Given the description of an element on the screen output the (x, y) to click on. 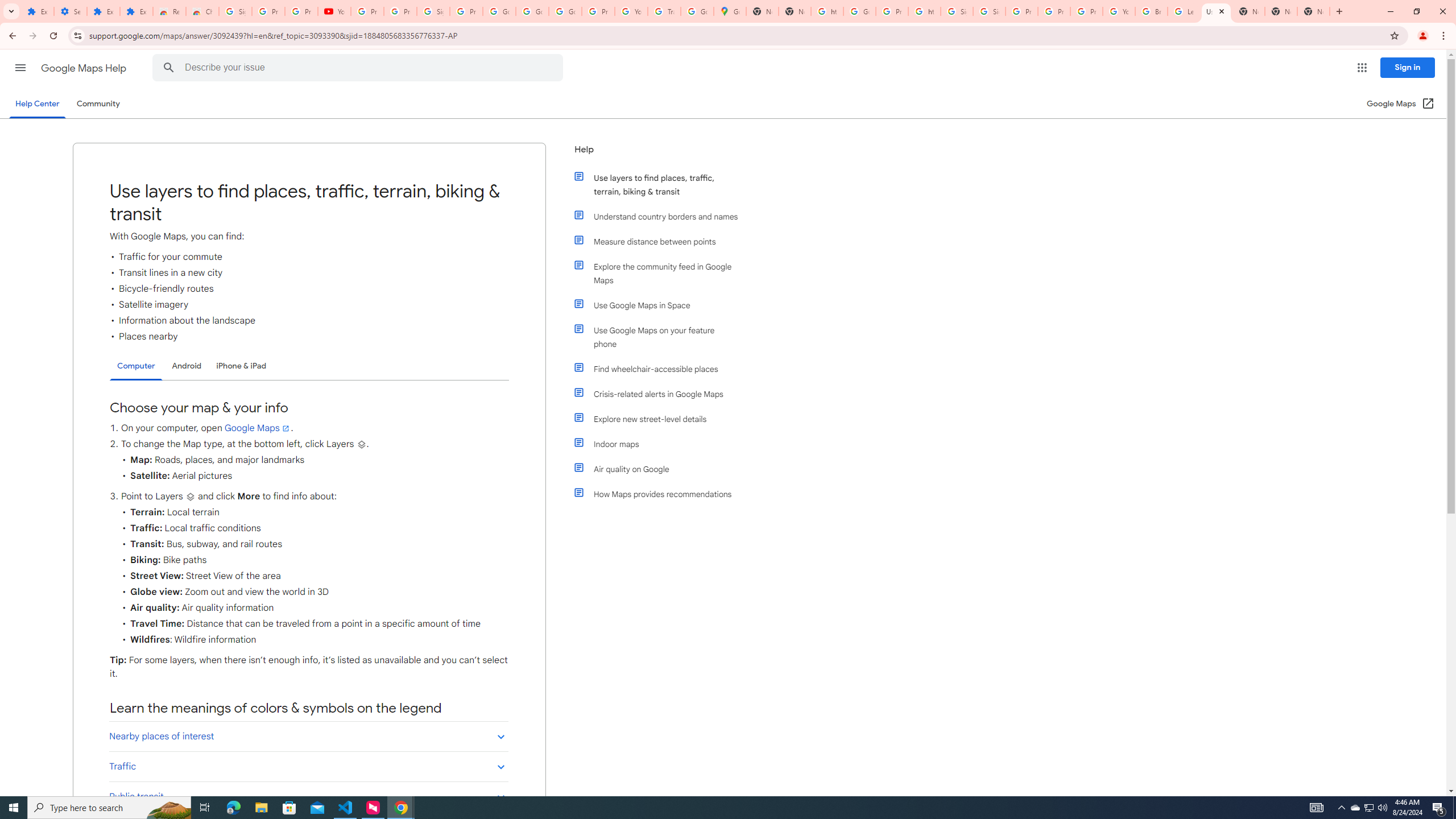
Address and search bar (735, 35)
Explore the community feed in Google Maps (661, 273)
Search Help Center (168, 67)
Google Maps (730, 11)
YouTube (1118, 11)
Explore new street-level details (661, 419)
Google Maps Help (84, 68)
Reload (52, 35)
https://scholar.google.com/ (827, 11)
Indoor maps (661, 444)
Reviews: Helix Fruit Jump Arcade Game (169, 11)
